Given the description of an element on the screen output the (x, y) to click on. 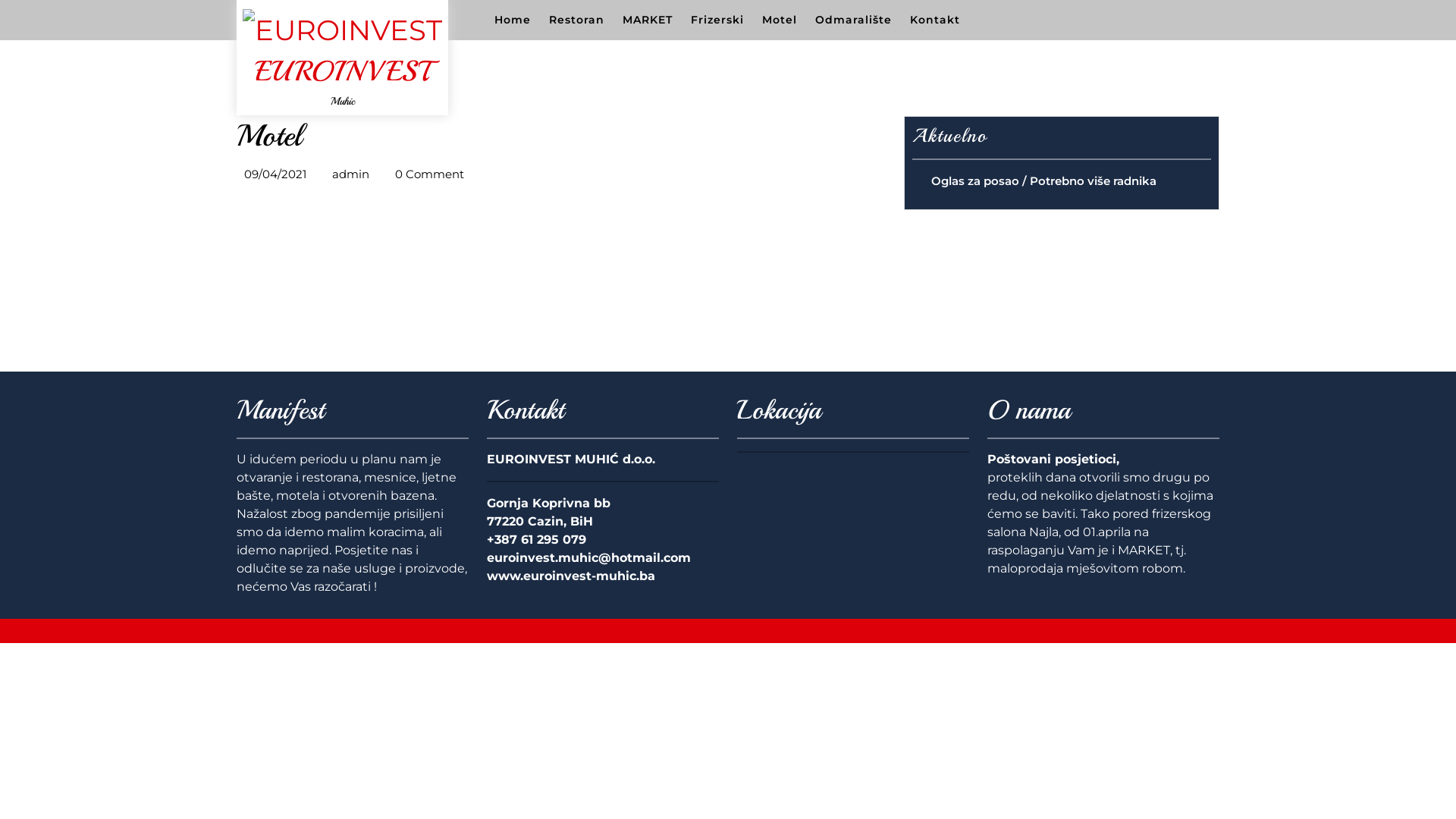
09/04/2021 Element type: text (275, 173)
Frizerski Element type: text (717, 20)
MARKET Element type: text (647, 20)
Home Element type: text (512, 20)
Motel Element type: text (779, 20)
Restoran Element type: text (576, 20)
admin Element type: text (350, 173)
Kontakt Element type: text (934, 20)
EUROINVEST Element type: text (341, 70)
